Given the description of an element on the screen output the (x, y) to click on. 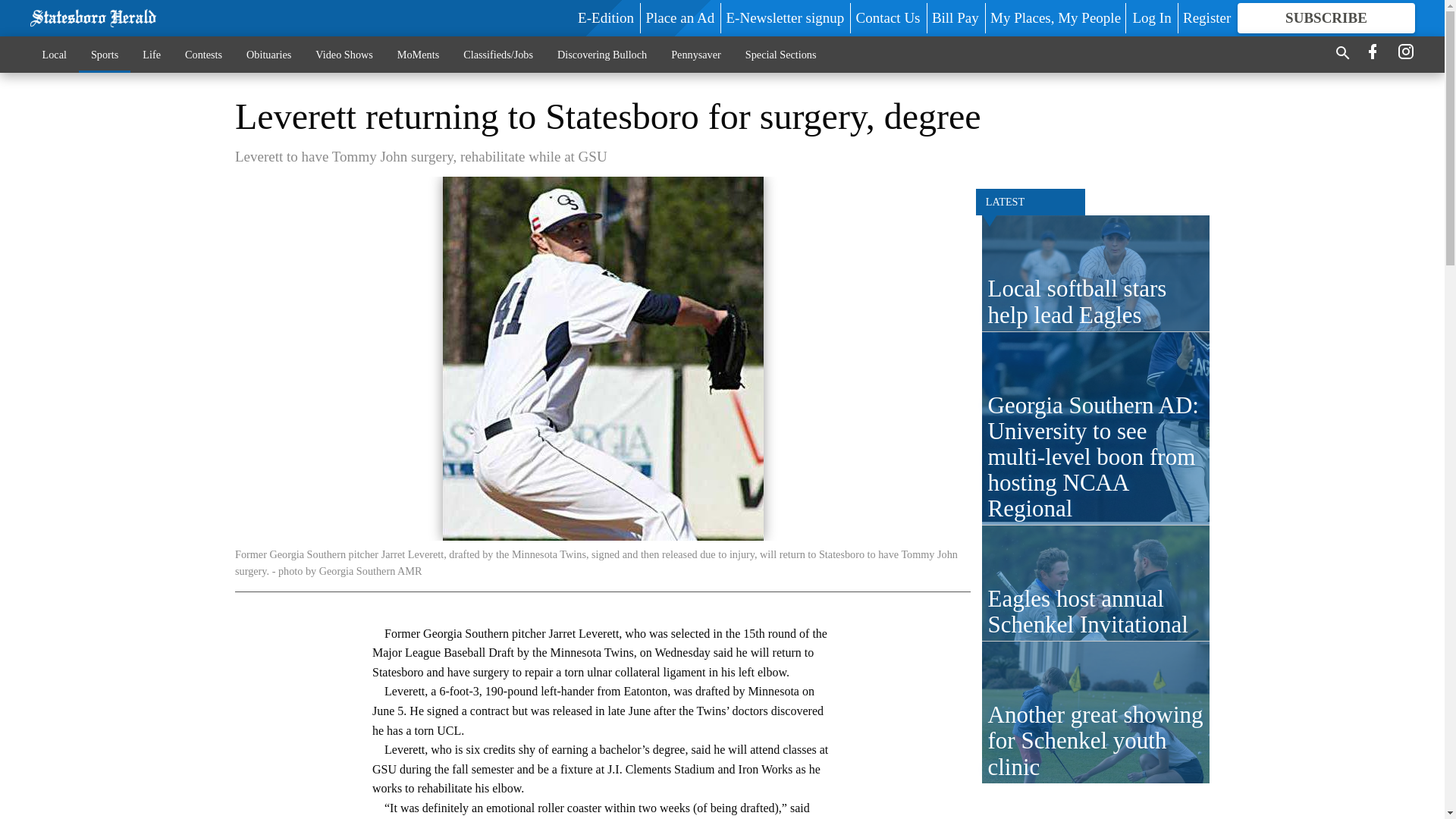
Pennysaver (696, 54)
Local (54, 54)
Place an Ad (679, 17)
Video Shows (343, 54)
Log In (1151, 17)
Obituaries (268, 54)
My Places, My People (1055, 17)
SUBSCRIBE (1325, 18)
MoMents (418, 54)
Contests (203, 54)
E-Edition (605, 17)
Special Sections (780, 54)
Bill Pay (954, 17)
Life (152, 54)
Contact Us (888, 17)
